Given the description of an element on the screen output the (x, y) to click on. 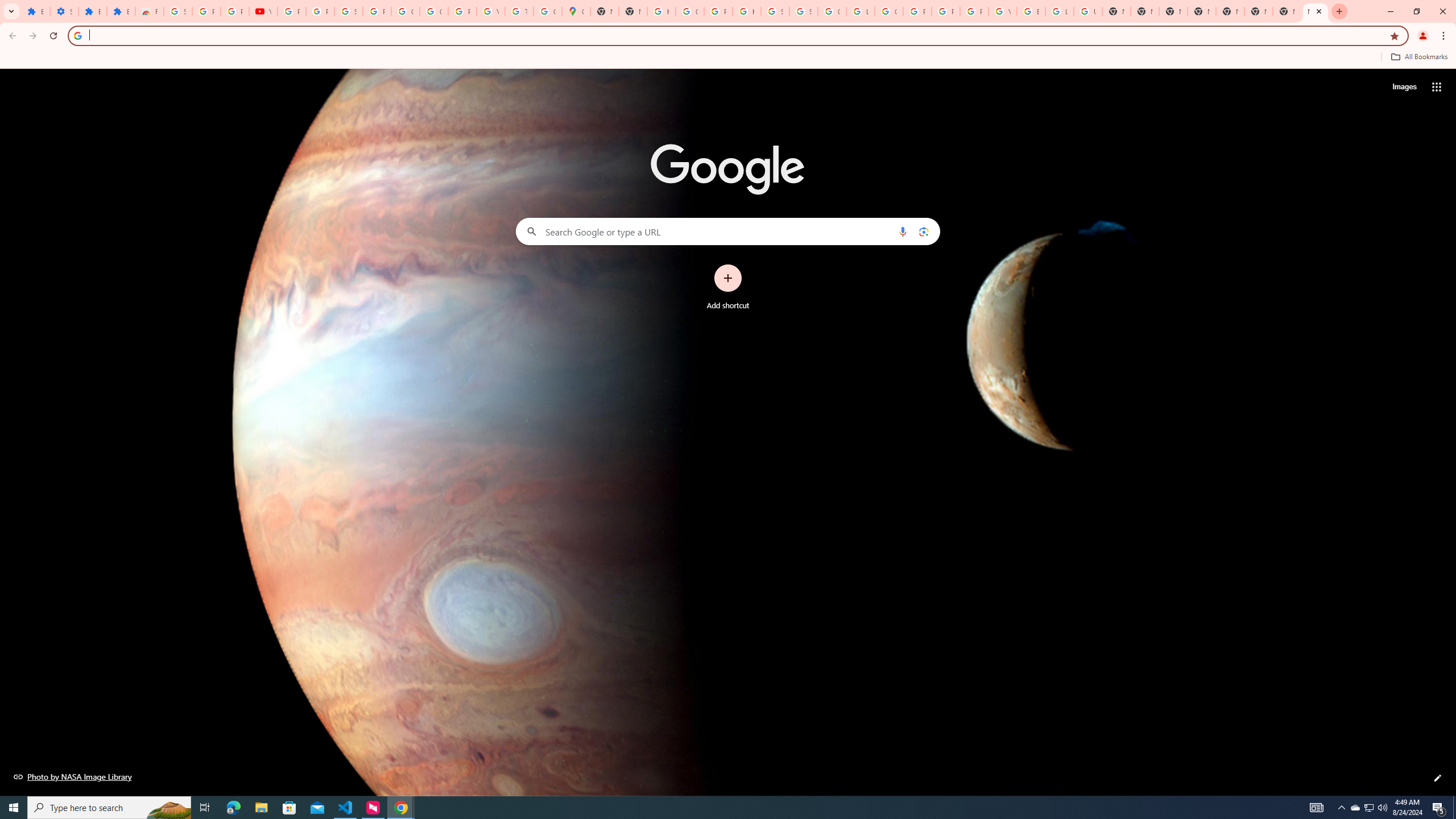
Reviews: Helix Fruit Jump Arcade Game (148, 11)
Search for Images  (1403, 87)
Google Account (405, 11)
